Given the description of an element on the screen output the (x, y) to click on. 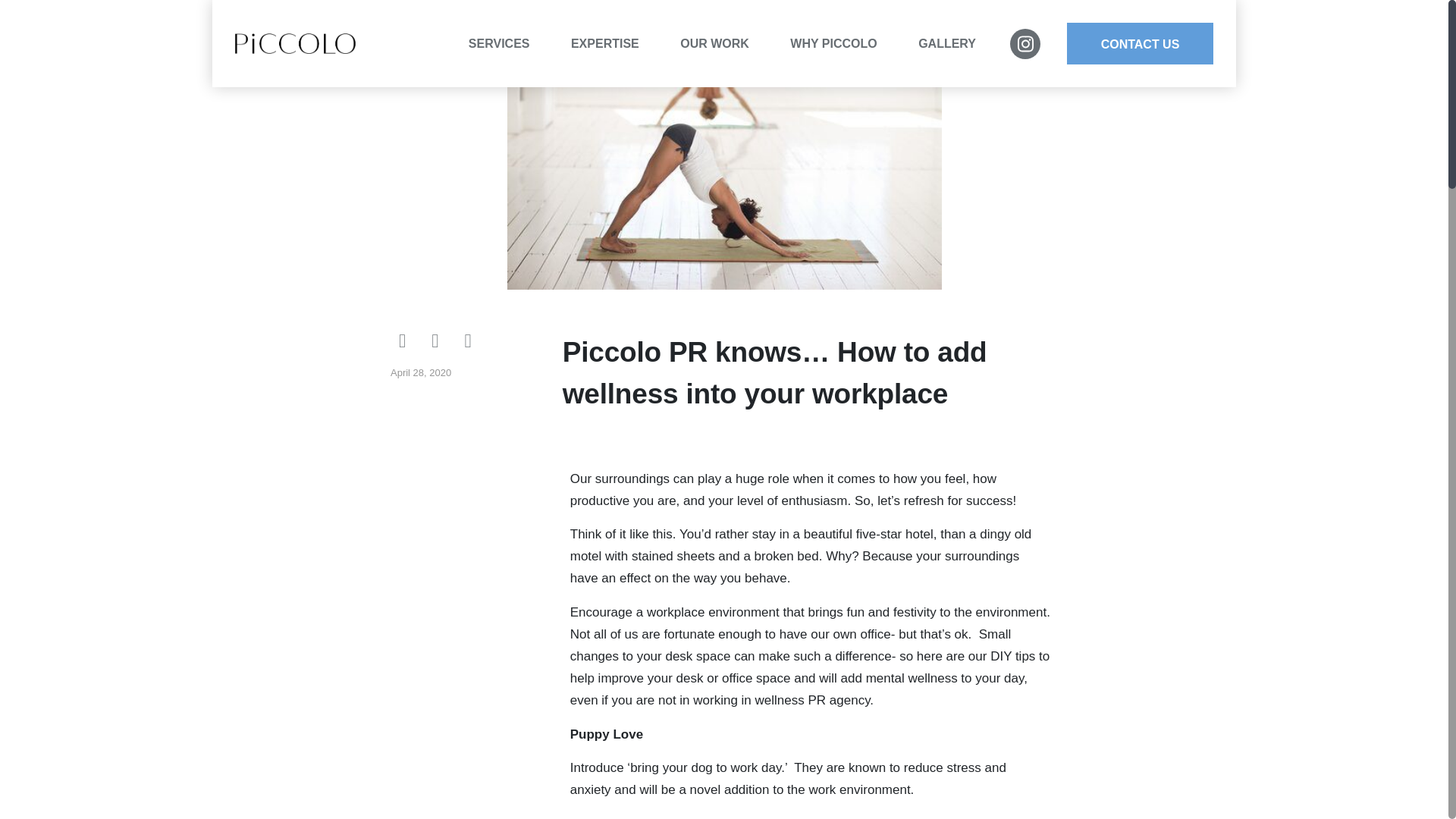
OUR STORY (883, 70)
EXPERTISE (614, 43)
BEAUTY (663, 70)
SERVICES (508, 43)
TESTIMONIALS (772, 70)
WHY PICCOLO (842, 43)
PUBLIC RELATIONS (561, 70)
GALLERY (946, 43)
CONTACT US (1139, 43)
OUR WORK (723, 43)
